Given the description of an element on the screen output the (x, y) to click on. 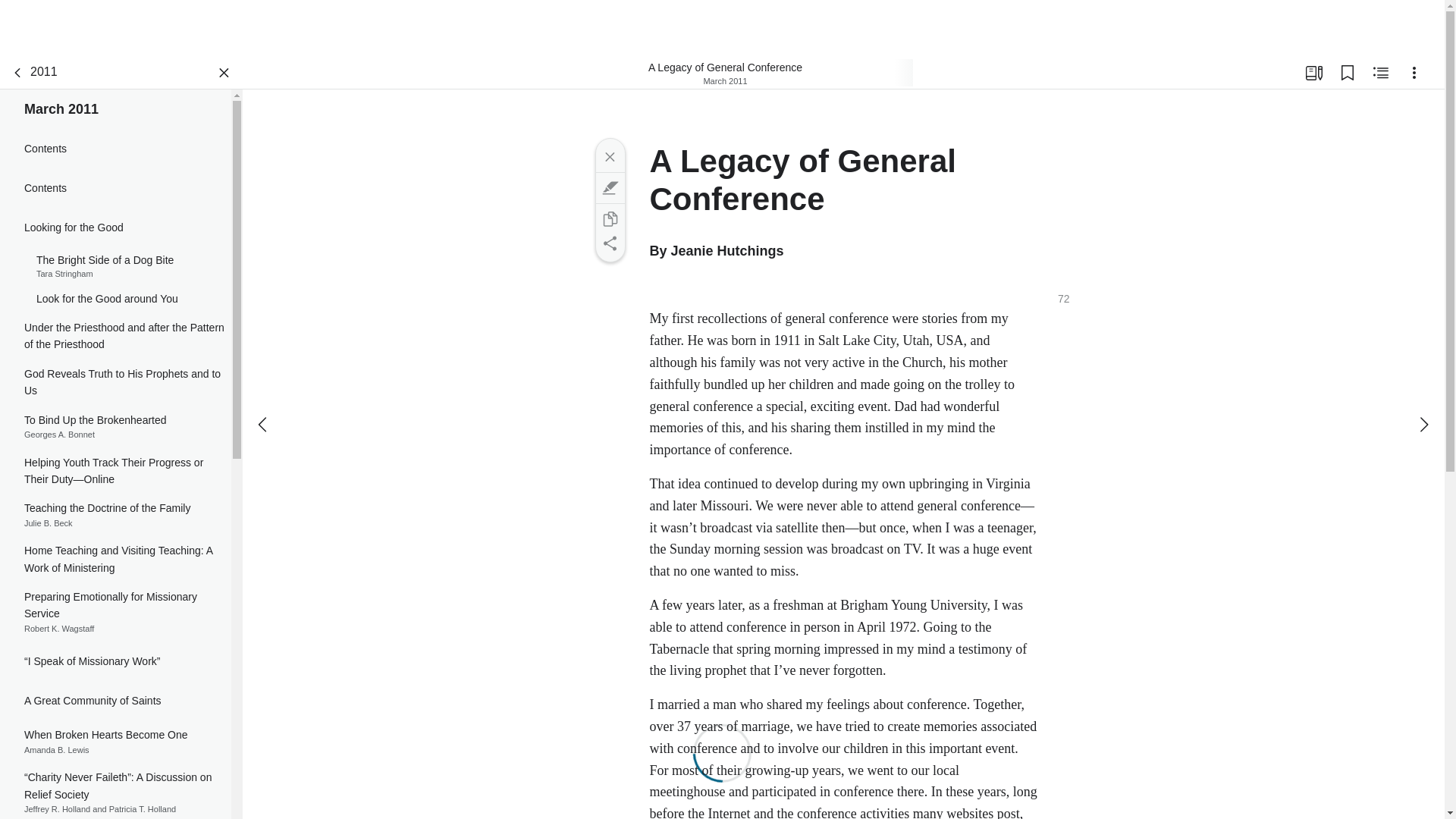
Mark (608, 187)
Contents (115, 188)
Related Content (1380, 72)
Options (1414, 72)
Bookmarks (115, 426)
Copy (1347, 72)
A Great Community of Saints (115, 514)
